Given the description of an element on the screen output the (x, y) to click on. 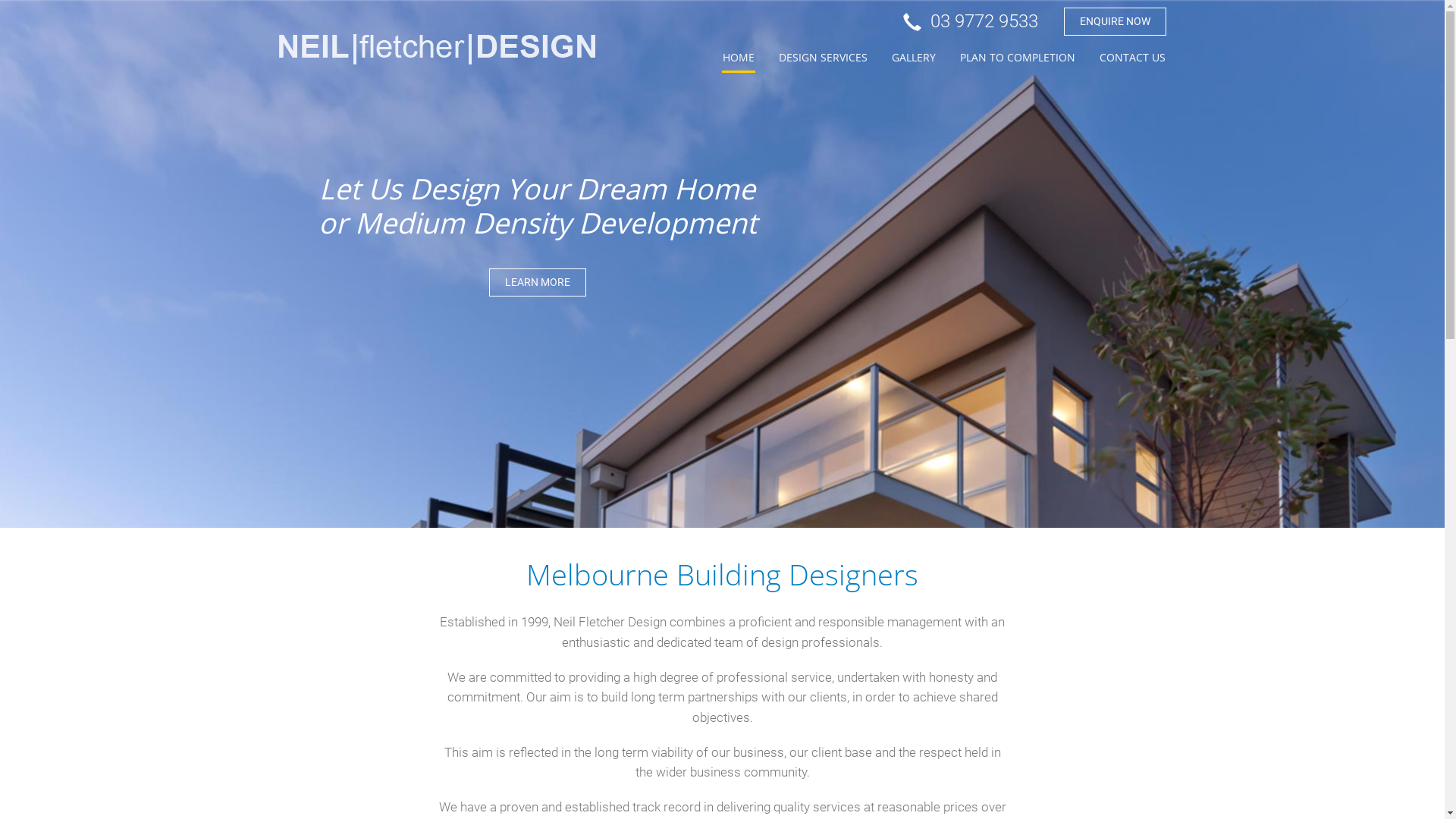
LEARN MORE Element type: text (537, 282)
CONTACT US Element type: text (1131, 58)
03 9772 9533 Element type: text (969, 20)
DESIGN SERVICES Element type: text (823, 58)
ENQUIRE NOW Element type: text (1114, 21)
HOME Element type: text (738, 58)
PLAN TO COMPLETION Element type: text (1016, 58)
GALLERY Element type: text (912, 58)
